Given the description of an element on the screen output the (x, y) to click on. 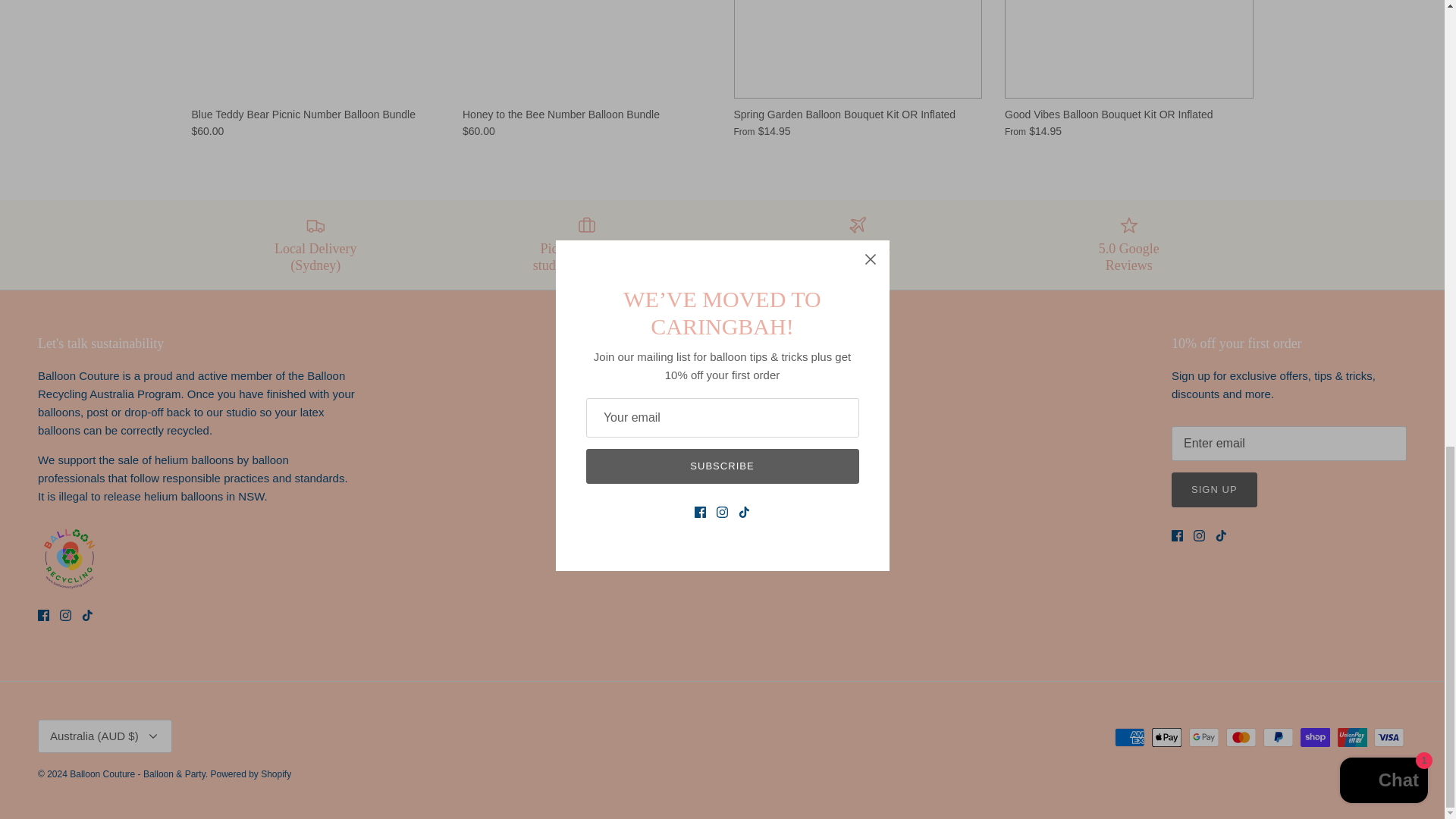
Facebook (43, 614)
Facebook (1177, 535)
Instagram (1199, 535)
Instagram (65, 614)
